Given the description of an element on the screen output the (x, y) to click on. 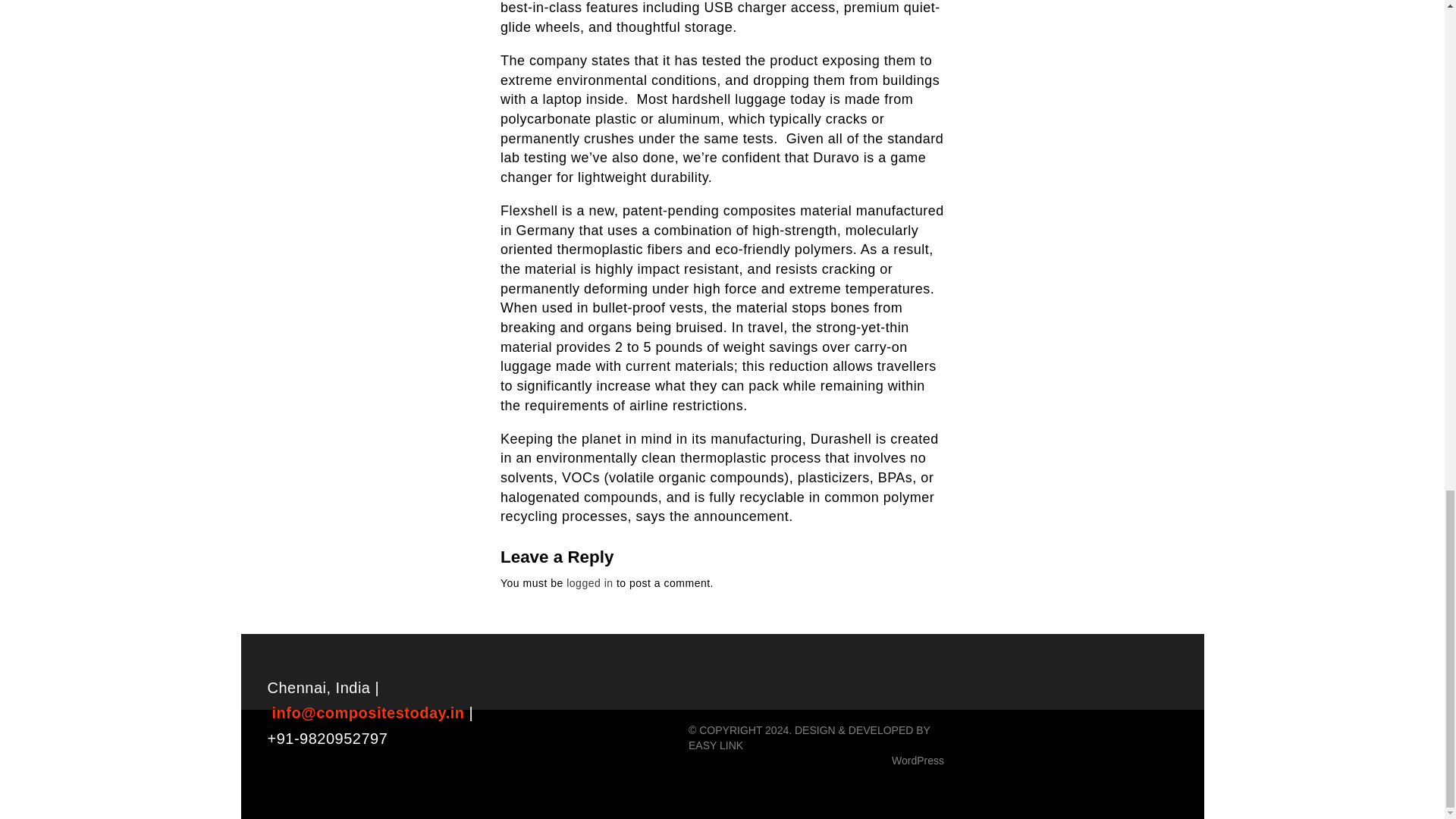
WordPress (917, 760)
logged in (589, 582)
